Given the description of an element on the screen output the (x, y) to click on. 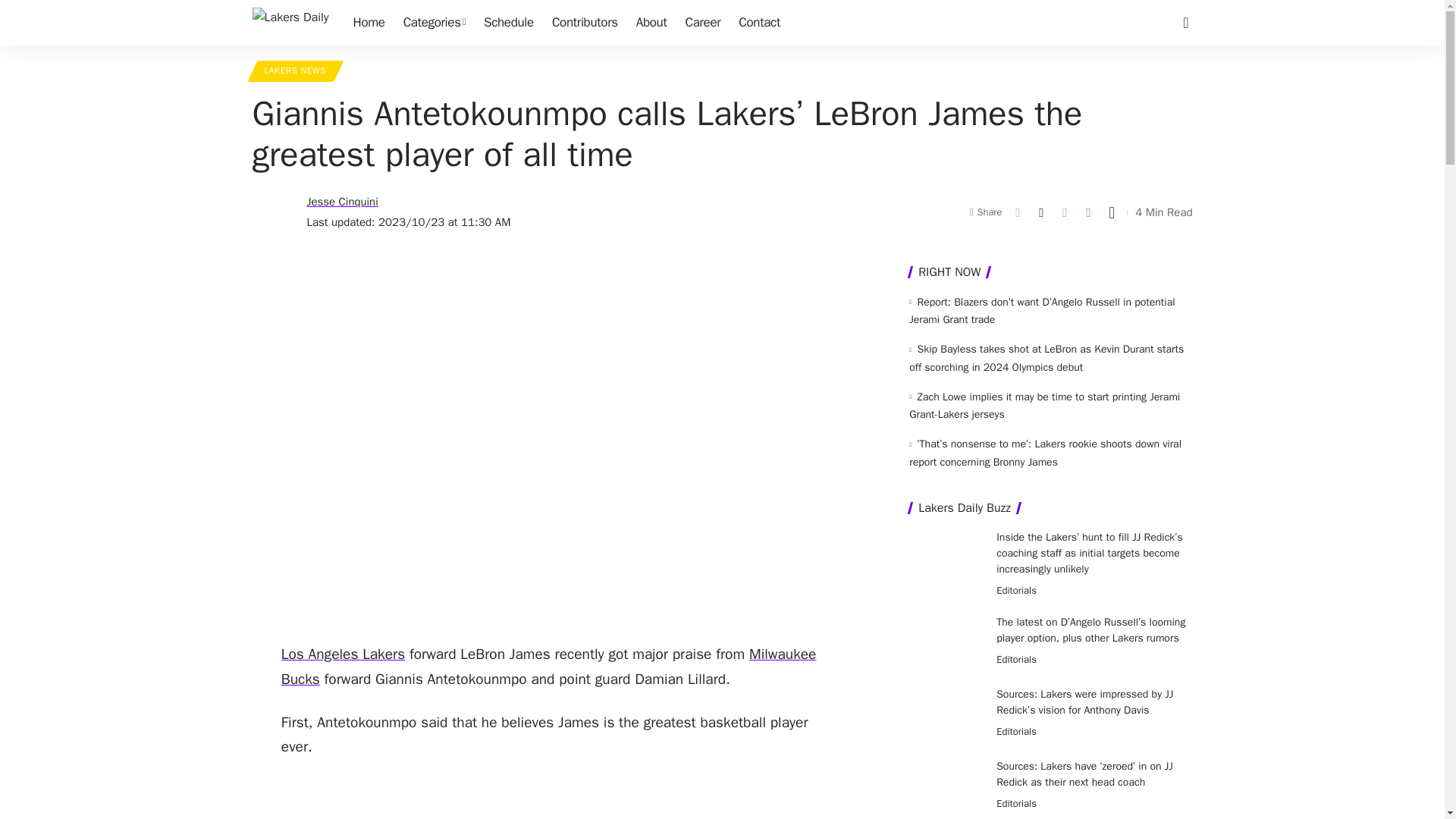
LAKERS NEWS (294, 70)
About (652, 22)
Lakers Daily (290, 22)
Schedule (508, 22)
Contributors (585, 22)
Los Angeles Lakers (342, 654)
Milwaukee Bucks (548, 666)
Career (703, 22)
Los Angeles Lakers (342, 654)
Home (368, 22)
Categories (434, 22)
Milwaukee Bucks (548, 666)
Contact (759, 22)
Jesse Cinquini (341, 201)
